Given the description of an element on the screen output the (x, y) to click on. 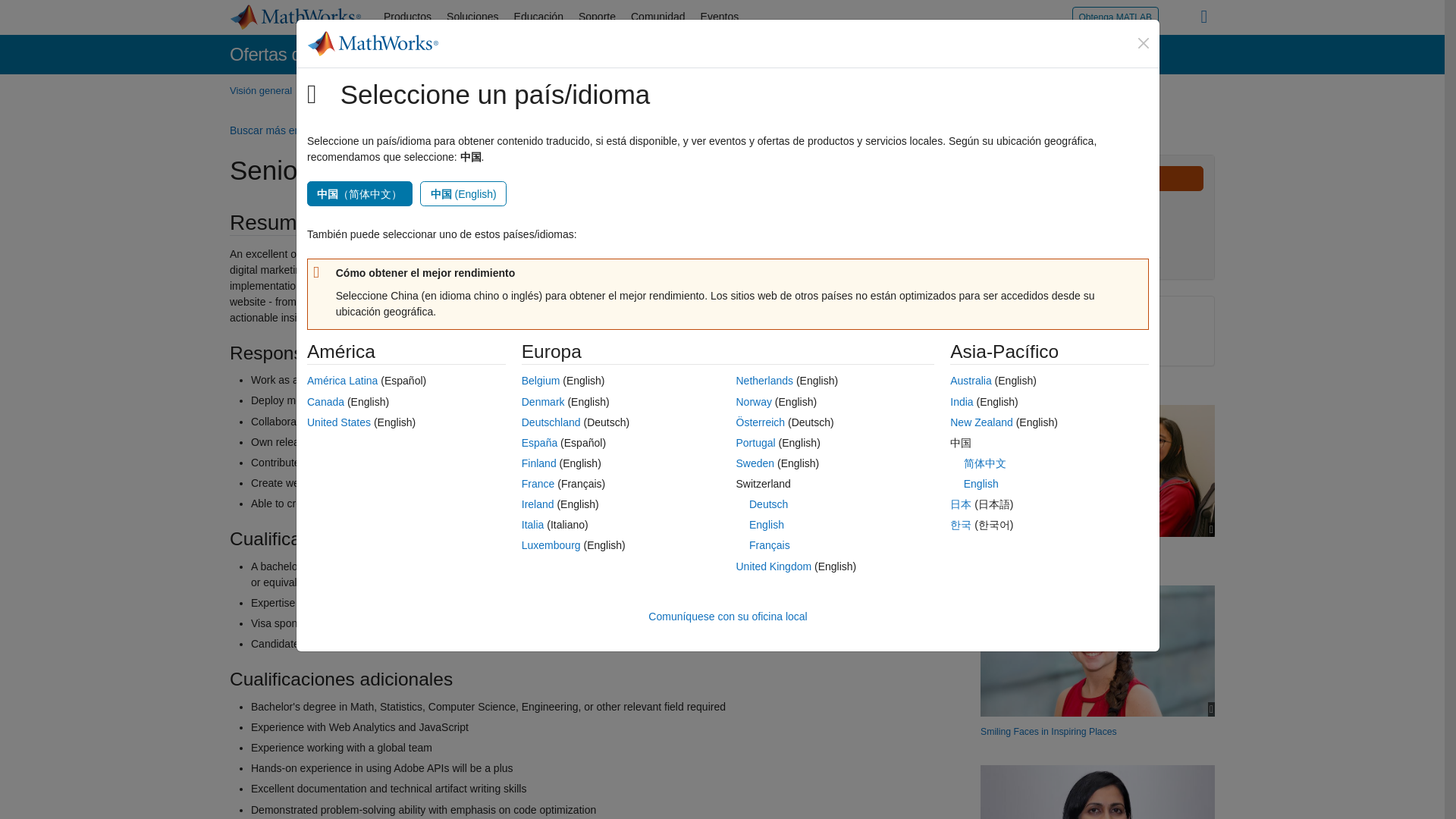
Eventos (719, 16)
Sunita, principal marketing specialist (1096, 791)
Productos (407, 16)
Obtenga MATLAB (1114, 16)
Copiar el enlace a esta oferta de empleo (1032, 342)
Grace (1047, 731)
Grace (1096, 651)
Ally (1064, 551)
Comunidad (658, 16)
Soluciones (472, 16)
Ally (1096, 470)
Ofertas de empleo en MathWorks (360, 54)
Cuenta de empleo (788, 90)
Estudiantes y nuevas carreras (597, 90)
Soporte (596, 16)
